Given the description of an element on the screen output the (x, y) to click on. 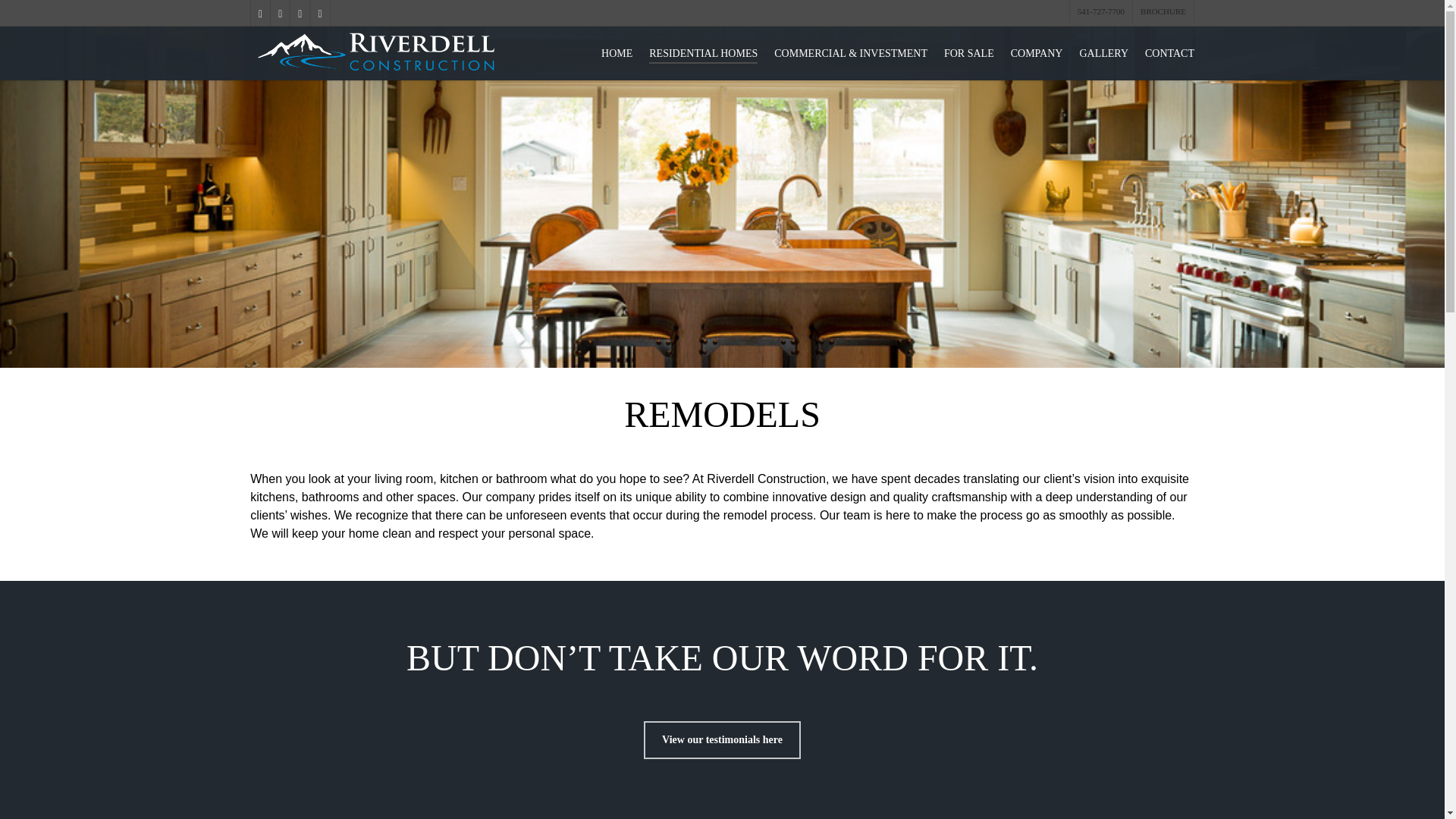
HOME (616, 53)
CONTACT (1168, 53)
GALLERY (1103, 53)
LINKEDIN (298, 13)
FACEBOOK (259, 13)
View our testimonials here (721, 740)
541-727-7700 (1100, 11)
HOUZZ (318, 13)
FOR SALE (968, 53)
PINTEREST (279, 13)
BROCHURE (1162, 11)
RESIDENTIAL HOMES (703, 53)
COMPANY (1036, 53)
